Given the description of an element on the screen output the (x, y) to click on. 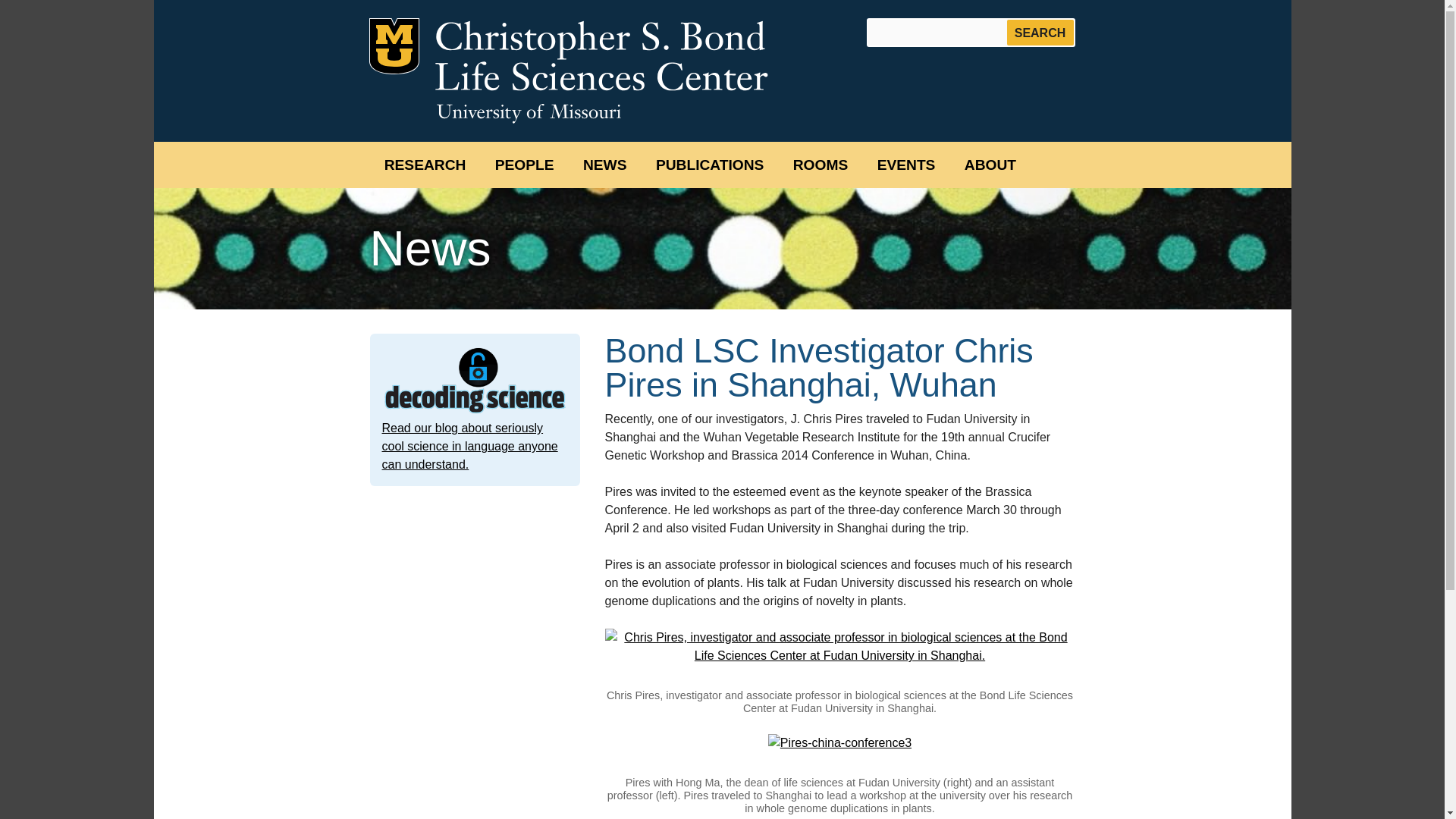
Search (1040, 32)
ABOUT (990, 164)
PUBLICATIONS (710, 164)
NEWS (605, 164)
Mizzou Logo (393, 46)
Submit Search (1040, 32)
Search Bond Life Sciences Center (970, 32)
PEOPLE (524, 164)
Christopher S. Bond Life Sciences Center (600, 55)
